Given the description of an element on the screen output the (x, y) to click on. 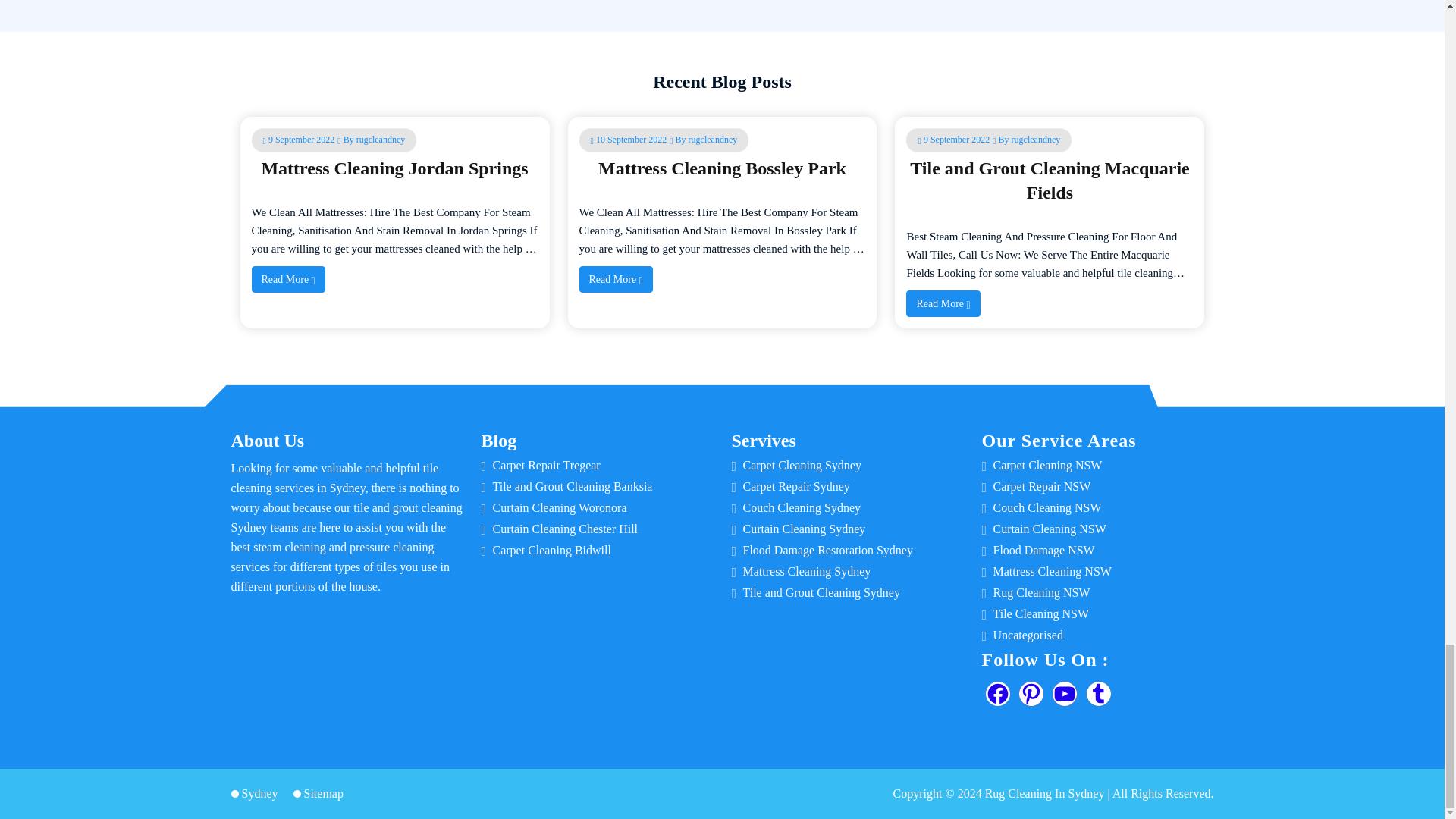
Read More (287, 279)
Mattress Cleaning Bossley Park (721, 168)
Mattress Cleaning Jordan Springs (393, 168)
Mattress Cleaning Bossley Park (721, 168)
Tile and Grout Cleaning Macquarie Fields (1049, 180)
Read More (615, 279)
Mattress Cleaning Jordan Springs (393, 168)
